Given the description of an element on the screen output the (x, y) to click on. 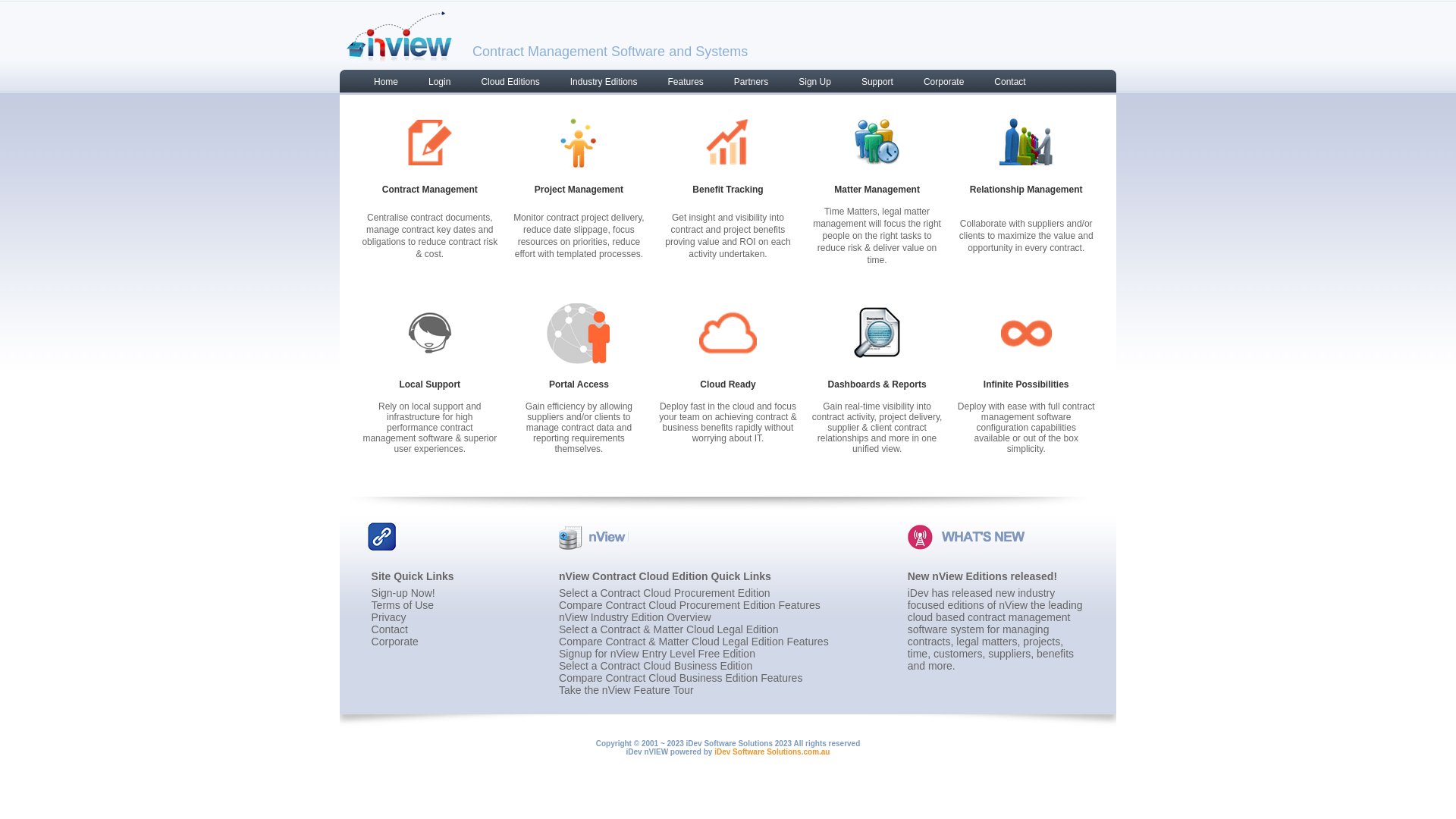
Compare Contract & Matter Cloud Legal Edition Features Element type: text (693, 641)
nView Industry Edition Overview Element type: text (634, 617)
Cloud Editions Element type: text (502, 84)
Relationship Management Element type: text (1025, 189)
Home Element type: text (378, 84)
Select a Contract & Matter Cloud Legal Edition Element type: text (668, 629)
Matter Management Element type: text (876, 189)
iDev Software Solutions.com.au Element type: text (771, 751)
Contract Management Element type: text (429, 189)
Corporate Element type: text (394, 641)
Terms of Use Element type: text (402, 605)
Contact Element type: text (1001, 84)
Features Element type: text (677, 84)
Signup for nView Entry Level Free Edition Element type: text (656, 653)
Partners Element type: text (743, 84)
Cloud Ready Element type: text (727, 384)
Privacy Element type: text (388, 617)
Benefit Tracking Element type: text (727, 189)
Contact Element type: text (389, 629)
Select a Contract Cloud Procurement Edition Element type: text (664, 592)
Project Management Element type: text (578, 189)
Compare Contract Cloud Business Edition Features Element type: text (680, 677)
Corporate Element type: text (935, 84)
Take the nView Feature Tour Element type: text (625, 690)
Support Element type: text (869, 84)
Local Support Element type: text (429, 384)
Sign Up Element type: text (806, 84)
Dashboards & Reports Element type: text (877, 384)
Sign-up Now! Element type: text (403, 592)
Portal Access Element type: text (578, 384)
Infinite Possibilities Element type: text (1026, 384)
Login Element type: text (431, 84)
Select a Contract Cloud Business Edition Element type: text (655, 665)
Industry Editions Element type: text (596, 84)
Compare Contract Cloud Procurement Edition Features Element type: text (689, 605)
New nView Editions released! Element type: text (982, 576)
